Given the description of an element on the screen output the (x, y) to click on. 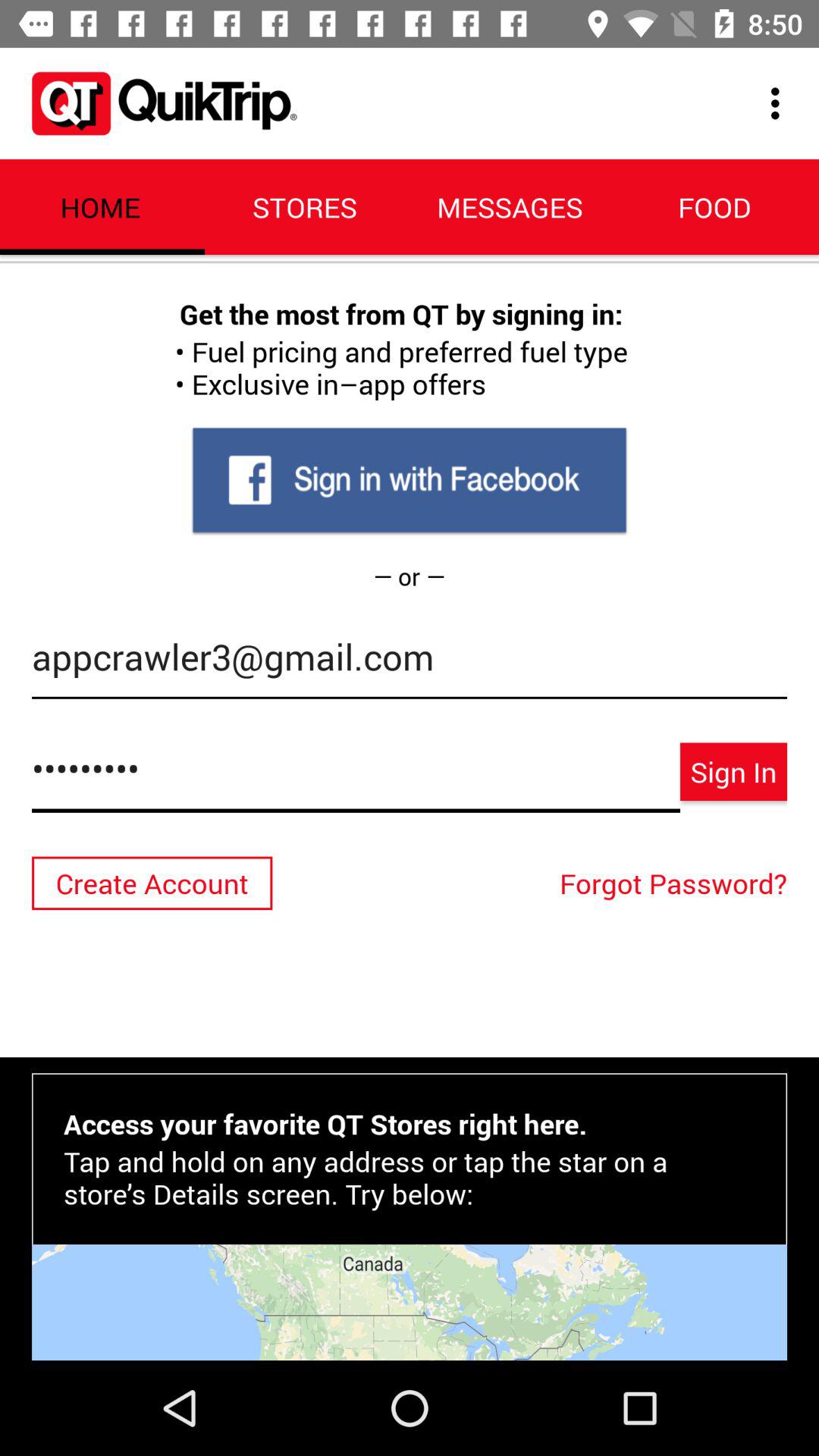
press the icon below crowd3116 icon (677, 883)
